Given the description of an element on the screen output the (x, y) to click on. 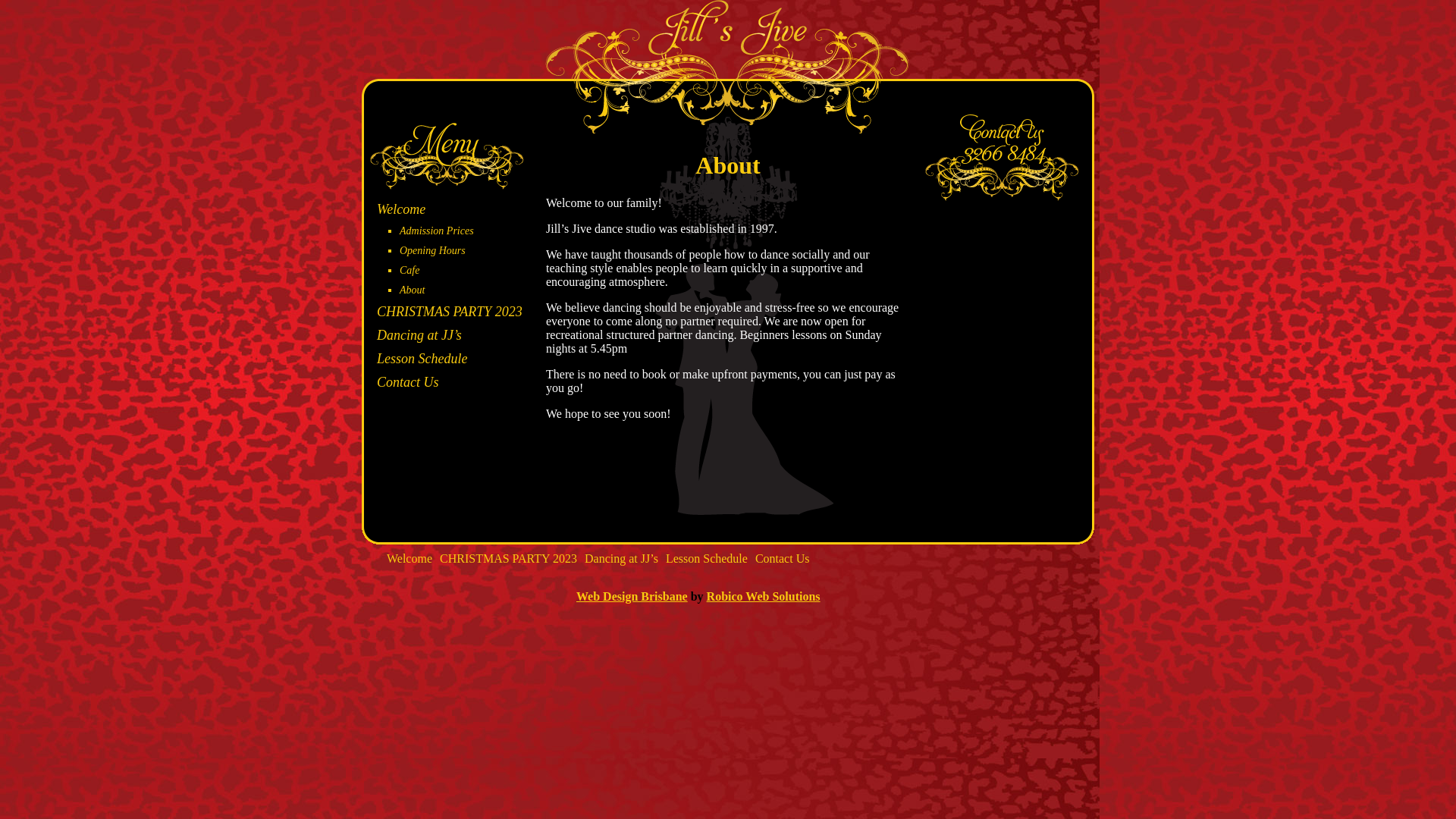
Web Design Brisbane Element type: text (631, 595)
CHRISTMAS PARTY 2023 Element type: text (508, 558)
Welcome Element type: text (400, 208)
Contact Us Element type: text (407, 381)
Robico Web Solutions Element type: text (763, 595)
Admission Prices Element type: text (436, 230)
About Element type: text (411, 289)
Lesson Schedule Element type: text (421, 358)
Welcome Element type: text (409, 558)
Cafe Element type: text (409, 270)
Lesson Schedule Element type: text (706, 558)
Opening Hours Element type: text (432, 250)
Contact Us Element type: text (782, 558)
CHRISTMAS PARTY 2023 Element type: text (449, 311)
